Given the description of an element on the screen output the (x, y) to click on. 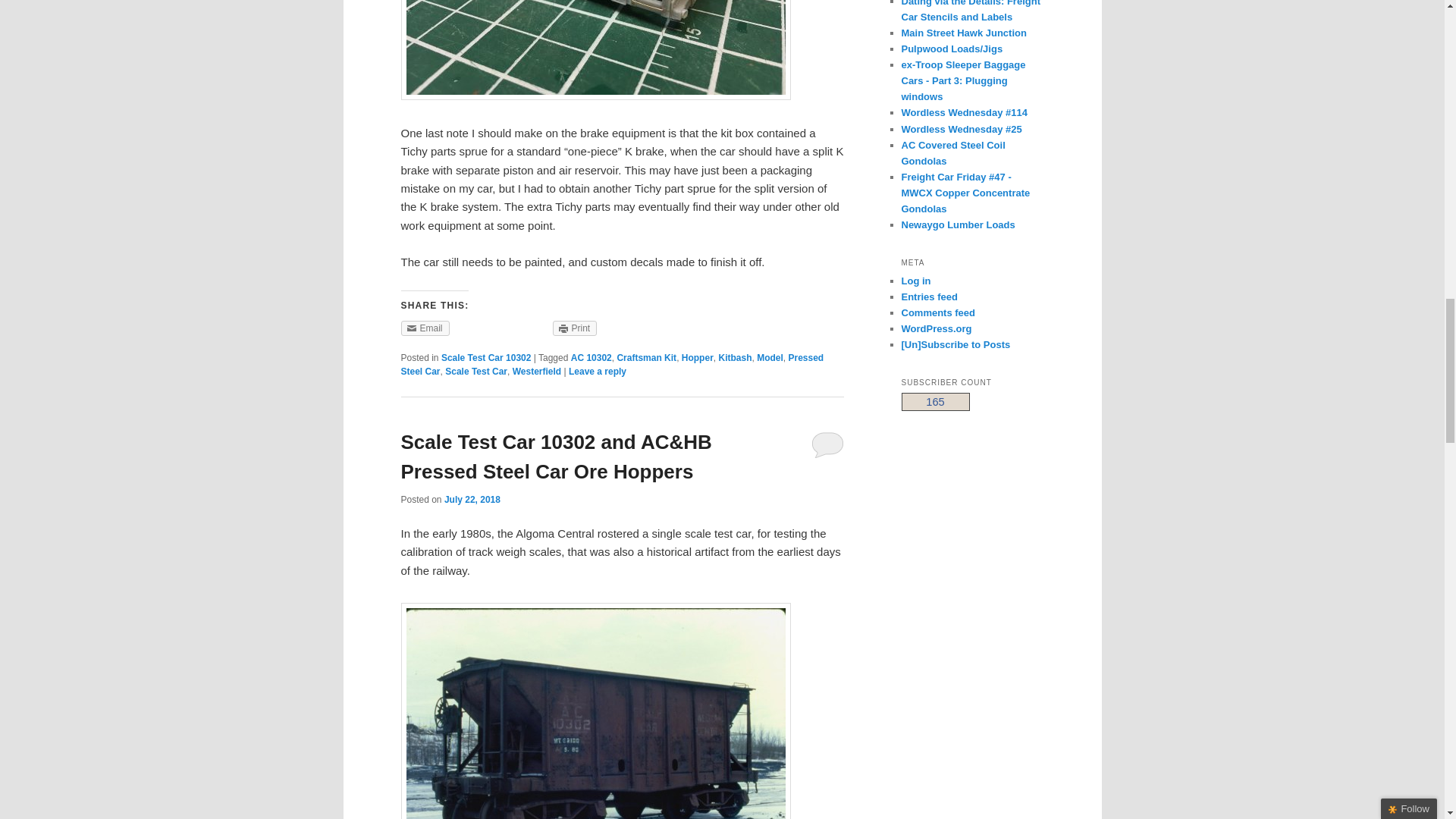
7:15 pm (472, 499)
Leave a reply (597, 371)
Click to email this to a friend (424, 328)
Model (770, 357)
Kitbash (734, 357)
AC 10302 (590, 357)
Print (574, 328)
Pressed Steel Car (612, 364)
Westerfield (536, 371)
Click to print (574, 328)
Scale Test Car 10302 (486, 357)
Hopper (697, 357)
July 22, 2018 (472, 499)
Scale Test Car (475, 371)
Craftsman Kit (646, 357)
